Given the description of an element on the screen output the (x, y) to click on. 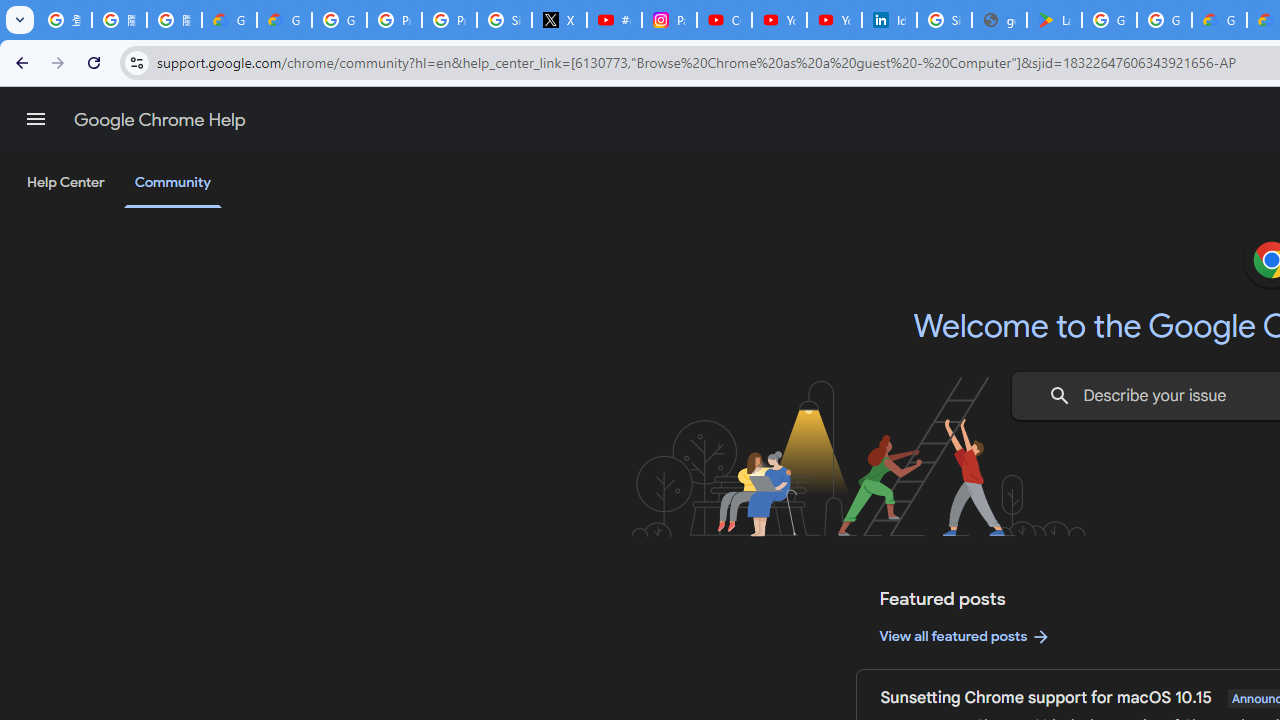
Government | Google Cloud (1218, 20)
Privacy Help Center - Policies Help (394, 20)
YouTube Culture & Trends - YouTube Top 10, 2021 (833, 20)
Google Workspace - Specific Terms (1163, 20)
Privacy Help Center - Policies Help (449, 20)
